Given the description of an element on the screen output the (x, y) to click on. 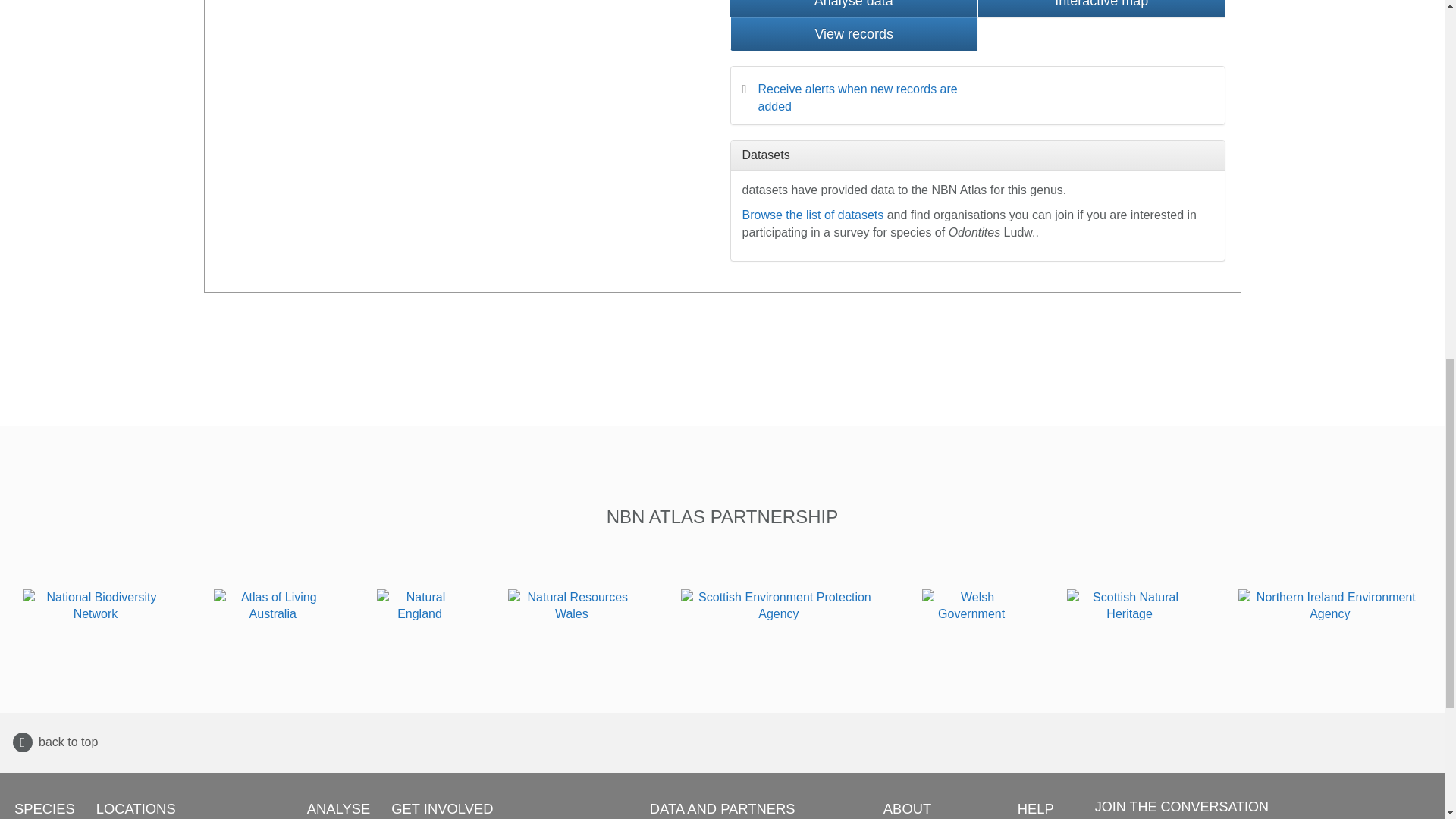
View a simple map of the records for this taxon (1100, 8)
View a list of the records for this taxon (852, 33)
Analyse data for this taxon using advance map tools (852, 8)
